Given the description of an element on the screen output the (x, y) to click on. 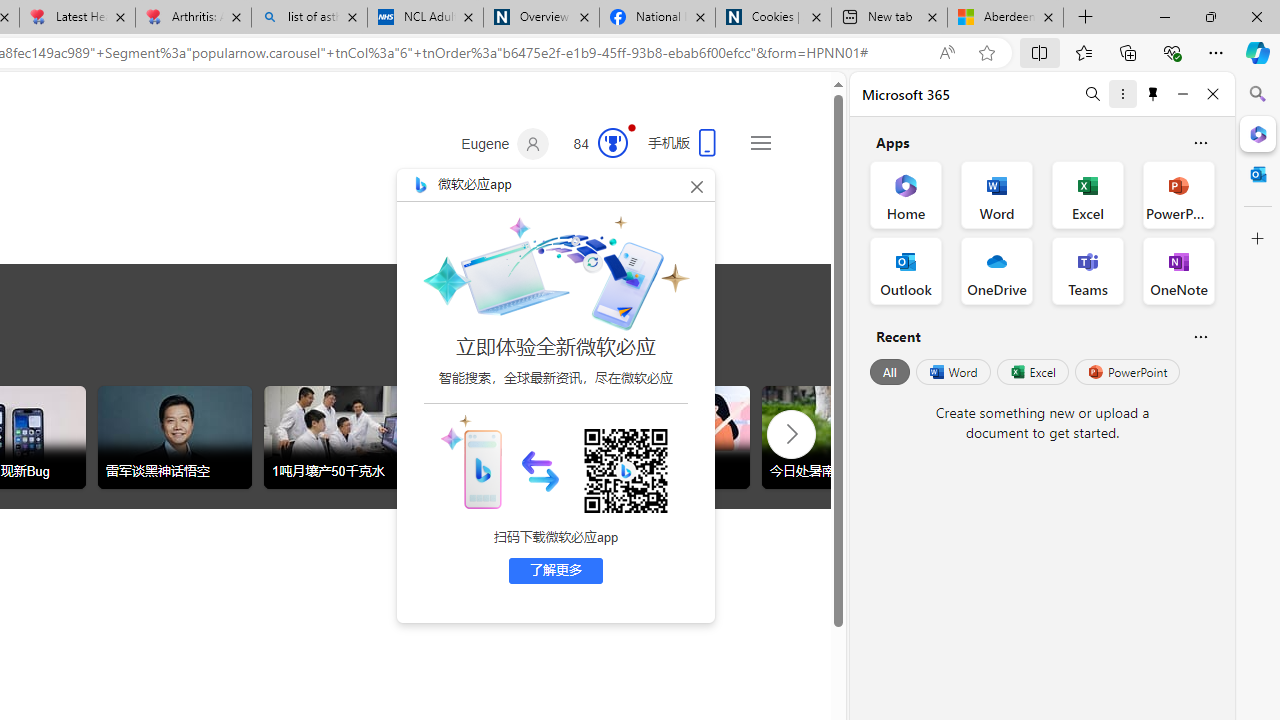
OneDrive Office App (996, 270)
Eugene (505, 143)
Settings and quick links (760, 142)
All (890, 372)
Is this helpful? (1200, 336)
OneNote Office App (1178, 270)
AutomationID: tob_right_arrow (791, 433)
Excel Office App (1087, 194)
